Given the description of an element on the screen output the (x, y) to click on. 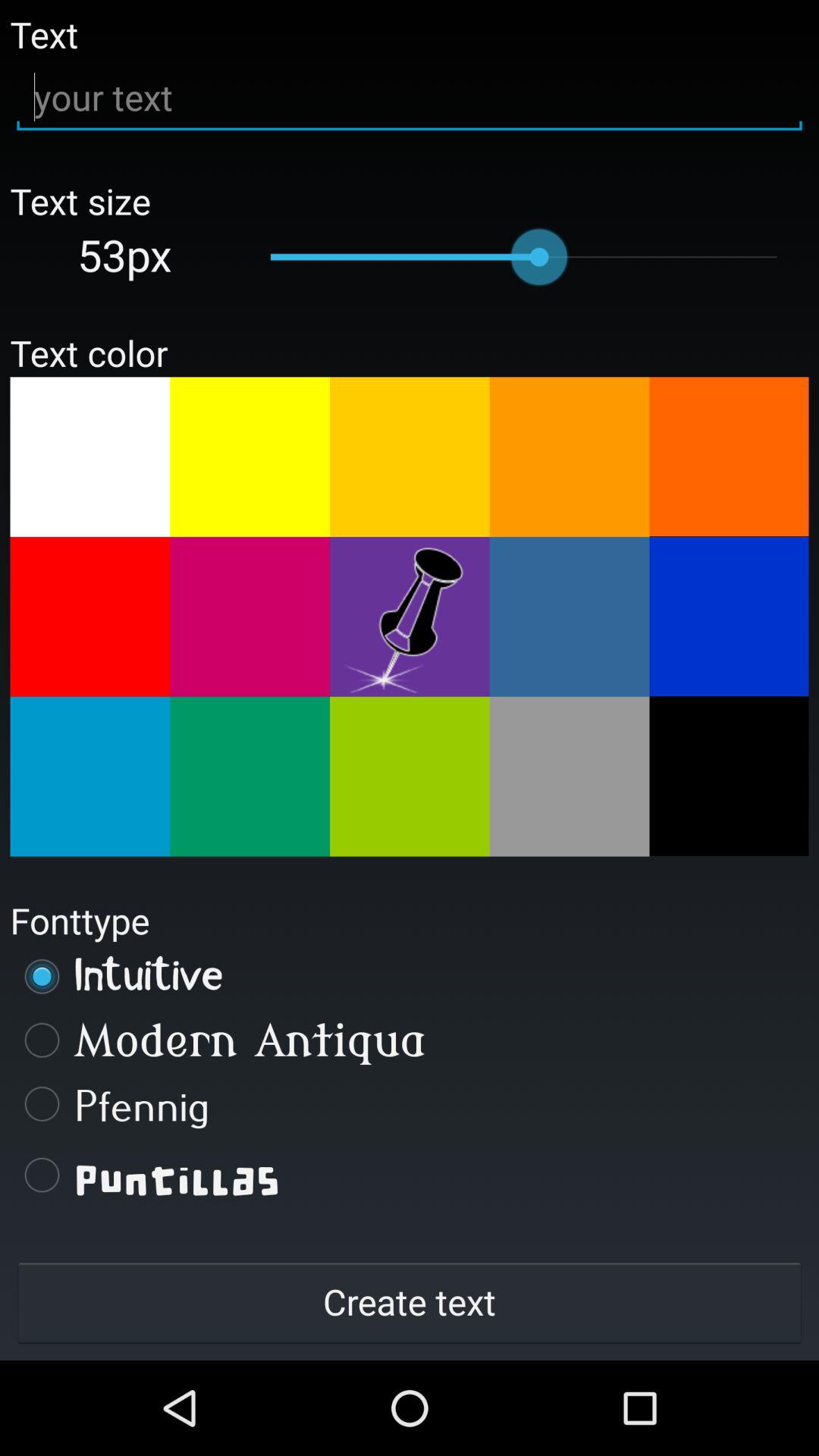
click app below the fonttype item (409, 976)
